Given the description of an element on the screen output the (x, y) to click on. 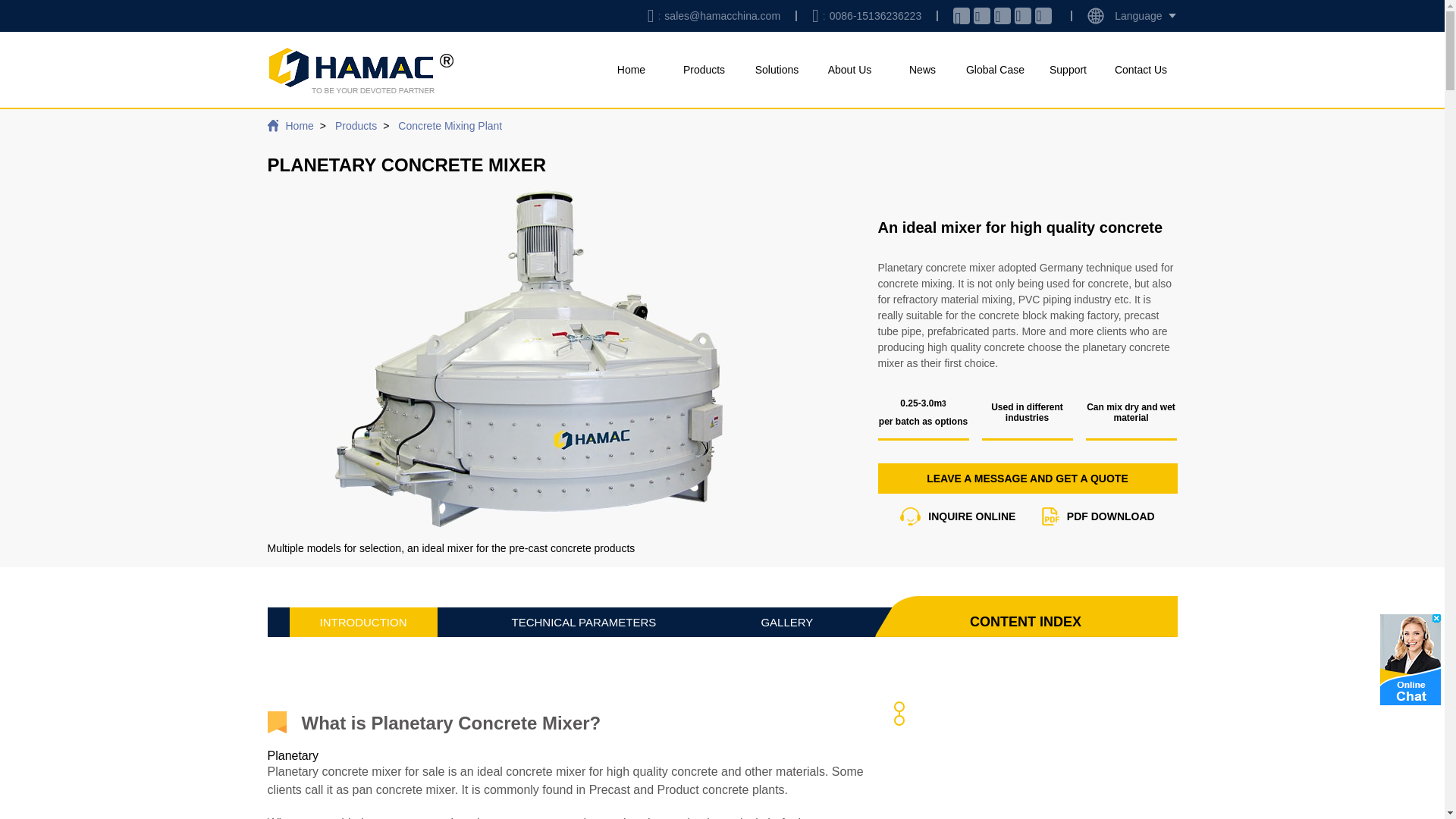
About Us (848, 69)
Home (630, 69)
Products (702, 69)
0086-15136236223 (871, 15)
Contact Us (1139, 69)
Mining crushing machinery and concrete manufacturer (359, 69)
Support (1066, 69)
Global Case (994, 69)
News (921, 69)
Solutions (775, 69)
